Given the description of an element on the screen output the (x, y) to click on. 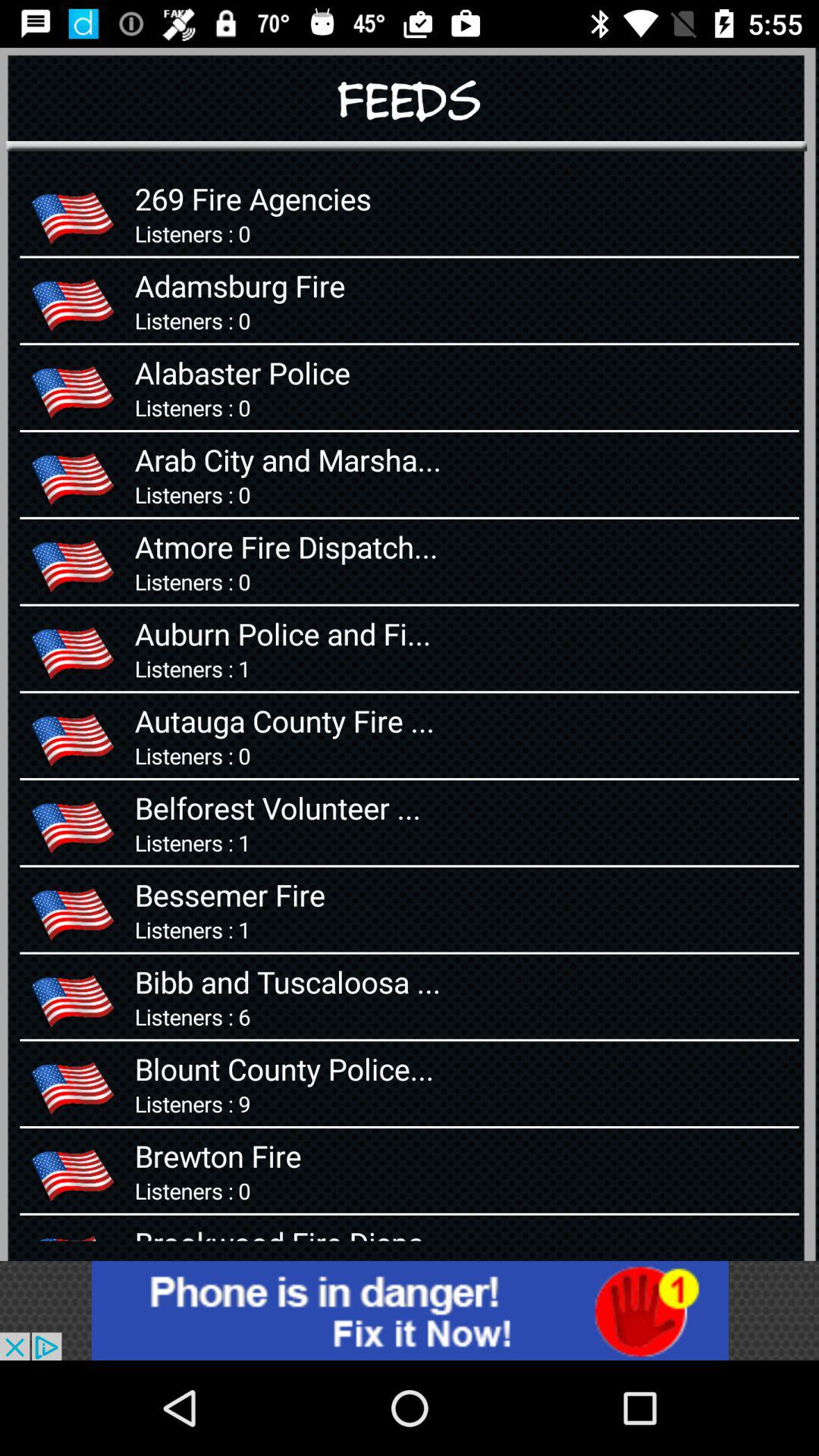
advertisement for virus scan for phone (409, 1310)
